Given the description of an element on the screen output the (x, y) to click on. 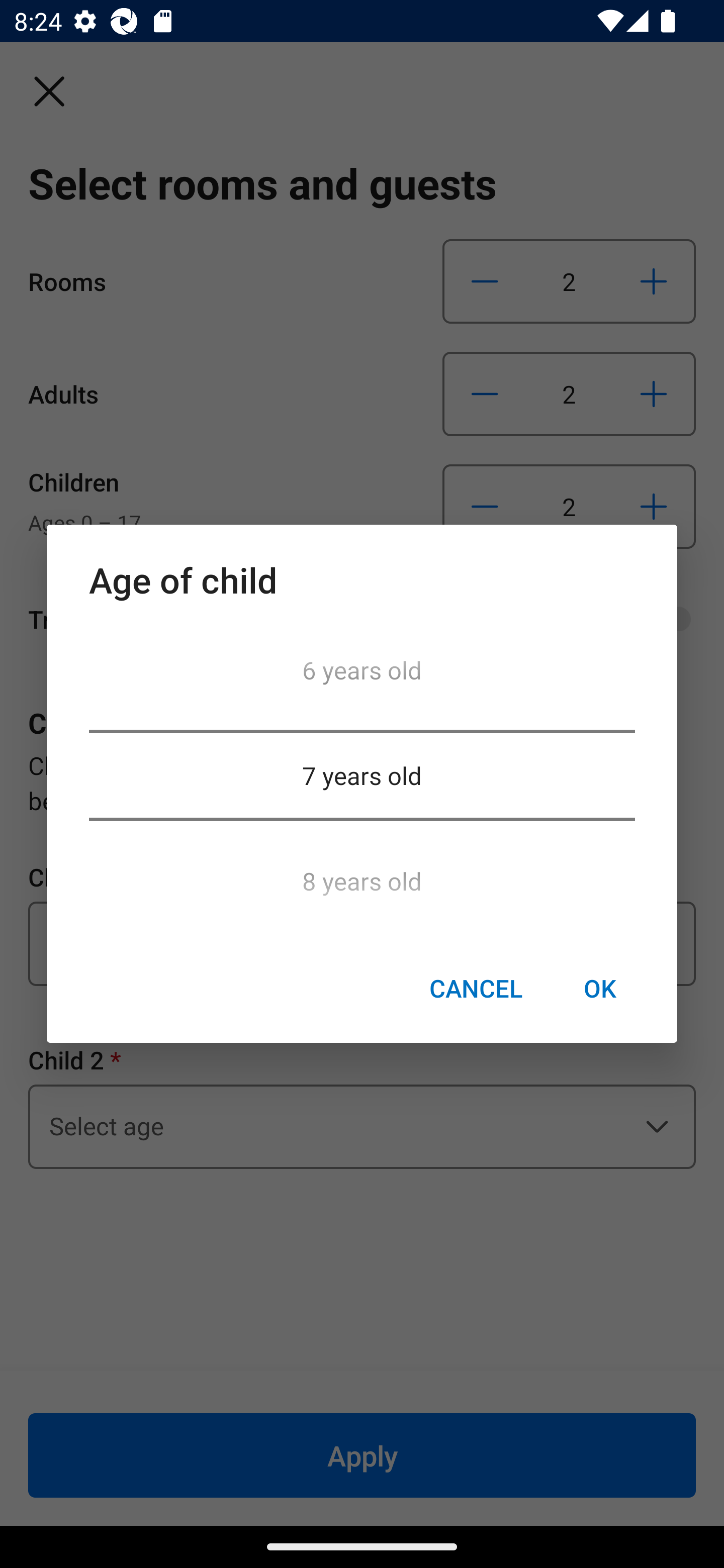
6 years old (361, 675)
7 years old (361, 774)
8 years old (361, 875)
CANCEL (475, 988)
OK (599, 988)
